Given the description of an element on the screen output the (x, y) to click on. 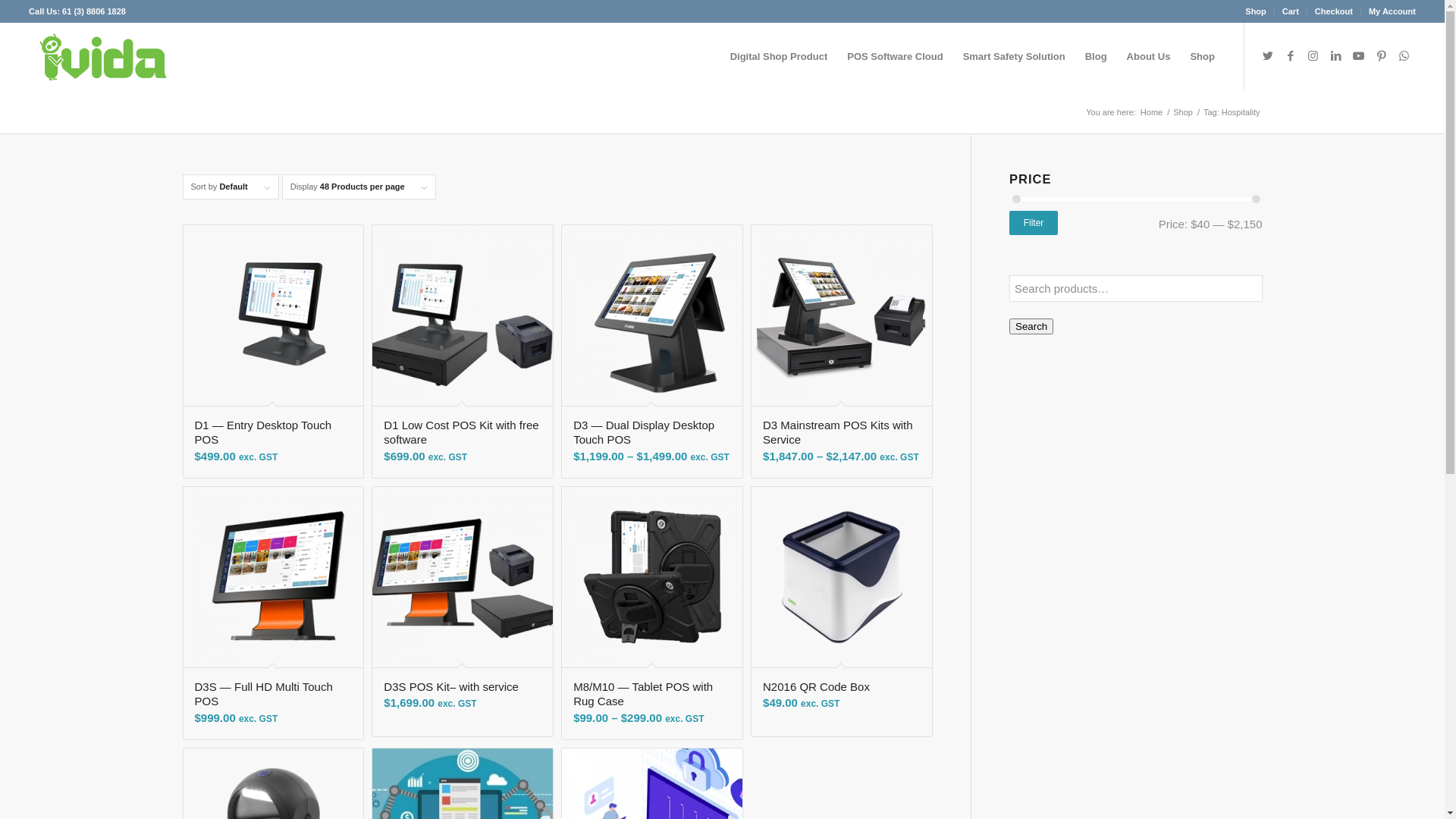
D1 Low Cost POS Kit with free software
$699.00 exc. GST Element type: text (462, 351)
Instagram Element type: hover (1313, 55)
340-156 Element type: hover (102, 56)
Home Element type: text (1151, 112)
Blog Element type: text (1096, 56)
Facebook Element type: hover (1290, 55)
About Us Element type: text (1148, 56)
My Account Element type: text (1391, 11)
Smart Safety Solution Element type: text (1014, 56)
Search Element type: text (1031, 326)
Youtube Element type: hover (1358, 55)
POS Software Cloud Element type: text (894, 56)
Twitter Element type: hover (1267, 55)
Shop Element type: text (1201, 56)
Shop Element type: text (1182, 112)
Shop Element type: text (1255, 11)
Checkout Element type: text (1333, 11)
Digital Shop Product Element type: text (778, 56)
Cart Element type: text (1290, 11)
Pinterest Element type: hover (1381, 55)
WhatsApp Element type: hover (1404, 55)
N2016 QR Code Box
$49.00 exc. GST Element type: text (841, 611)
Filter Element type: text (1033, 222)
LinkedIn Element type: hover (1335, 55)
